Given the description of an element on the screen output the (x, y) to click on. 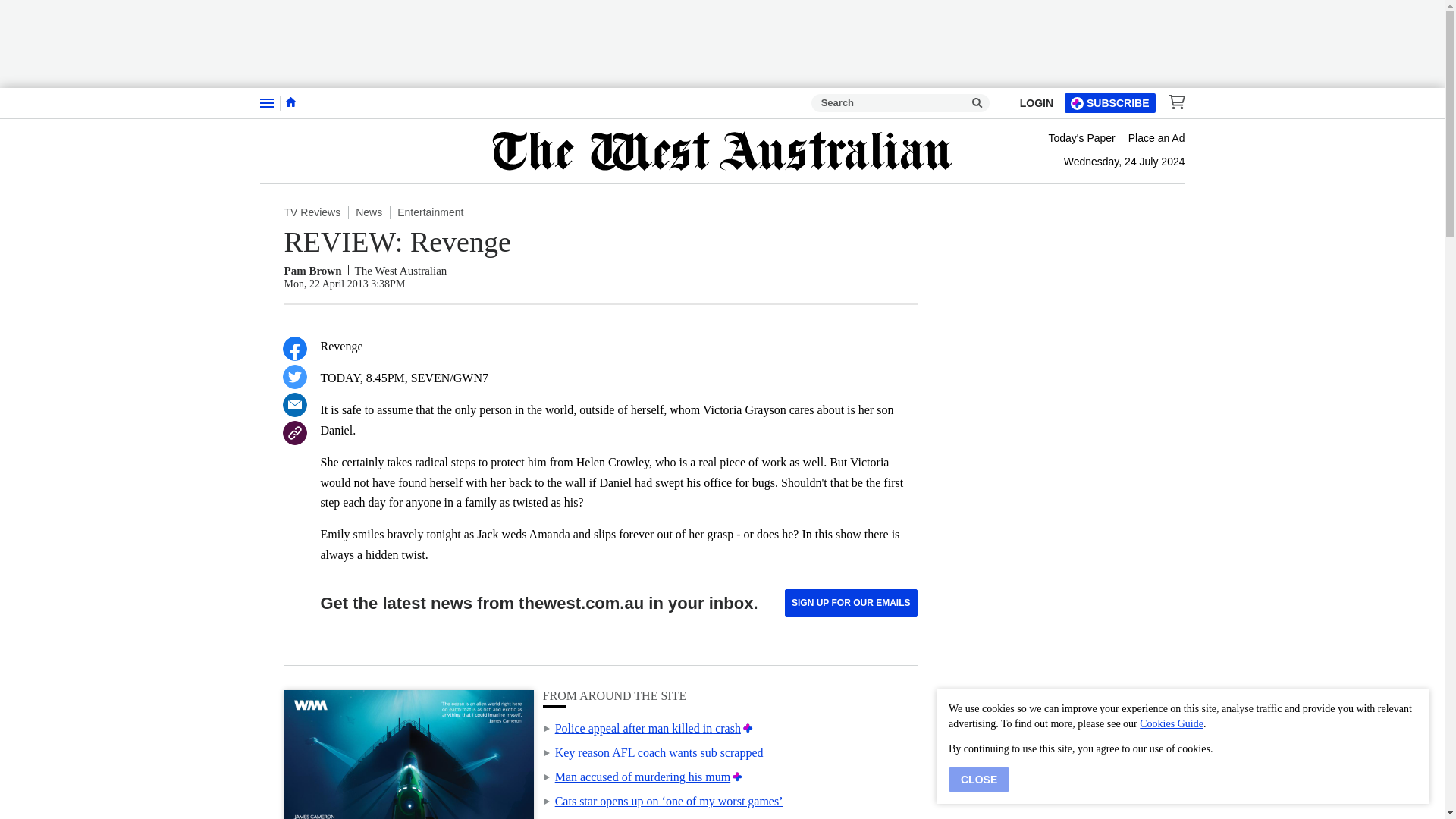
Home (290, 102)
Premium (737, 776)
Premium (747, 727)
Please enter a search term. (977, 102)
Empty Cart Icon (1172, 102)
